Given the description of an element on the screen output the (x, y) to click on. 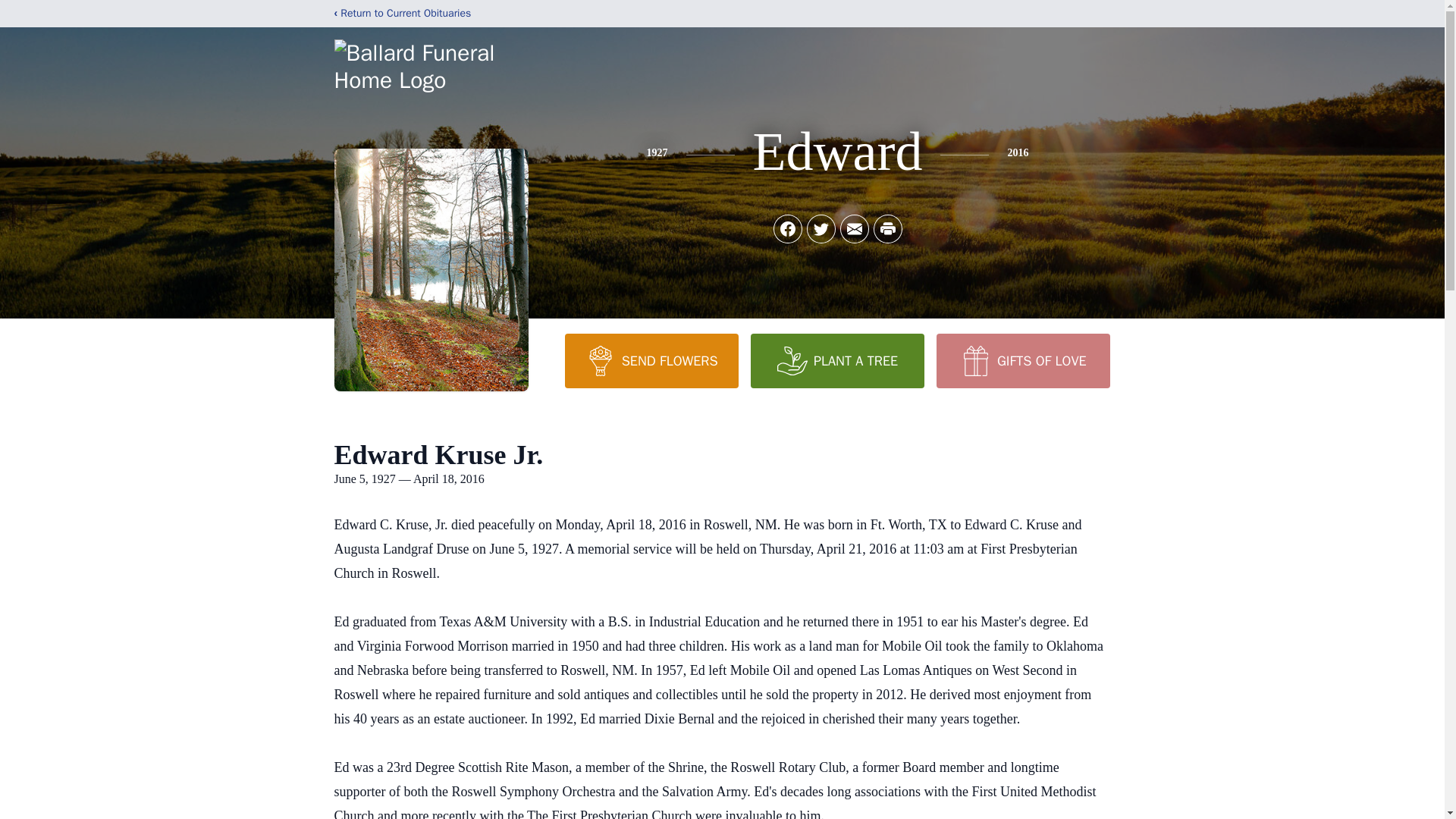
GIFTS OF LOVE (1022, 360)
PLANT A TREE (837, 360)
SEND FLOWERS (651, 360)
